Given the description of an element on the screen output the (x, y) to click on. 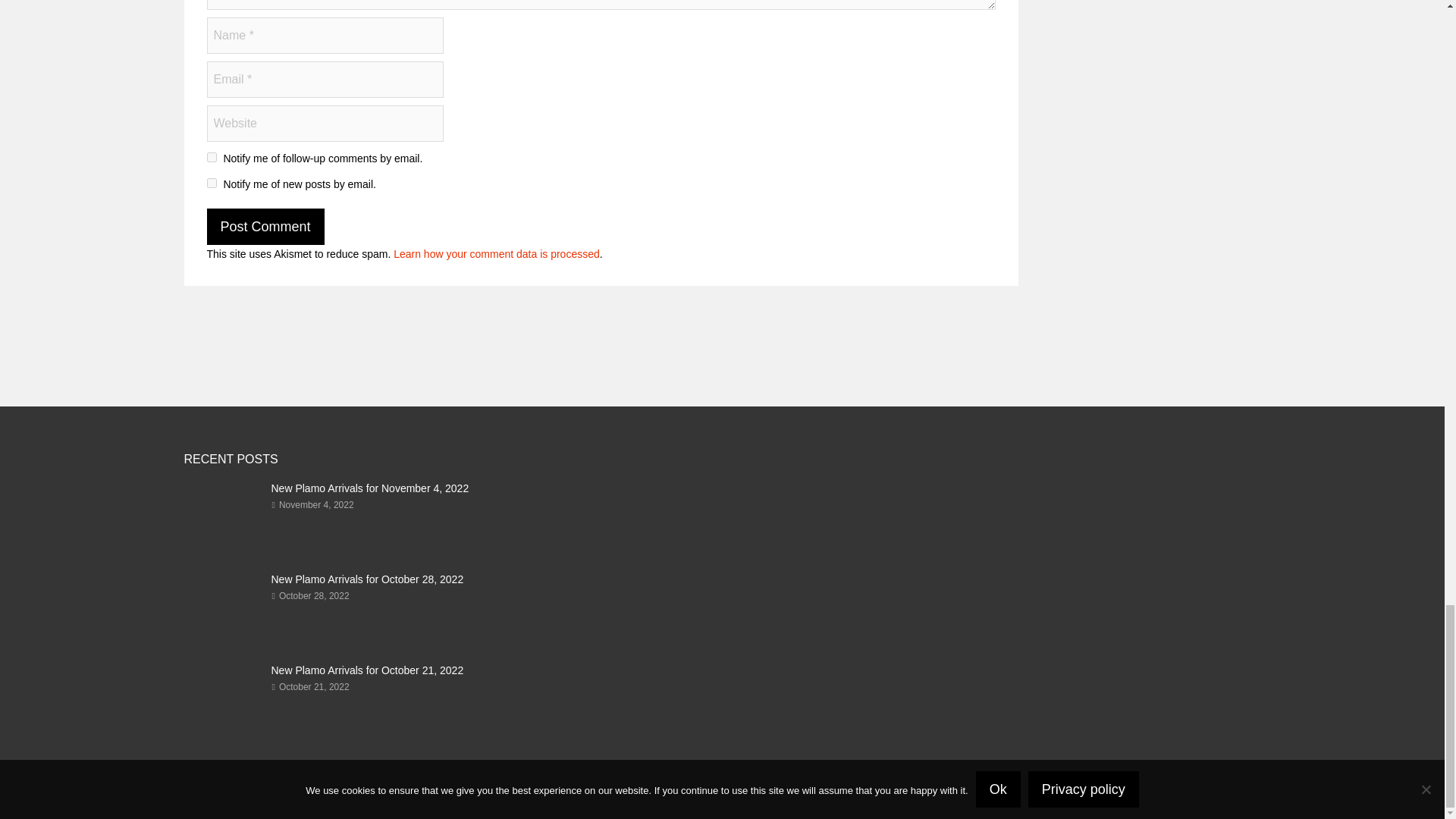
subscribe (210, 183)
subscribe (210, 157)
Post Comment (264, 226)
